Given the description of an element on the screen output the (x, y) to click on. 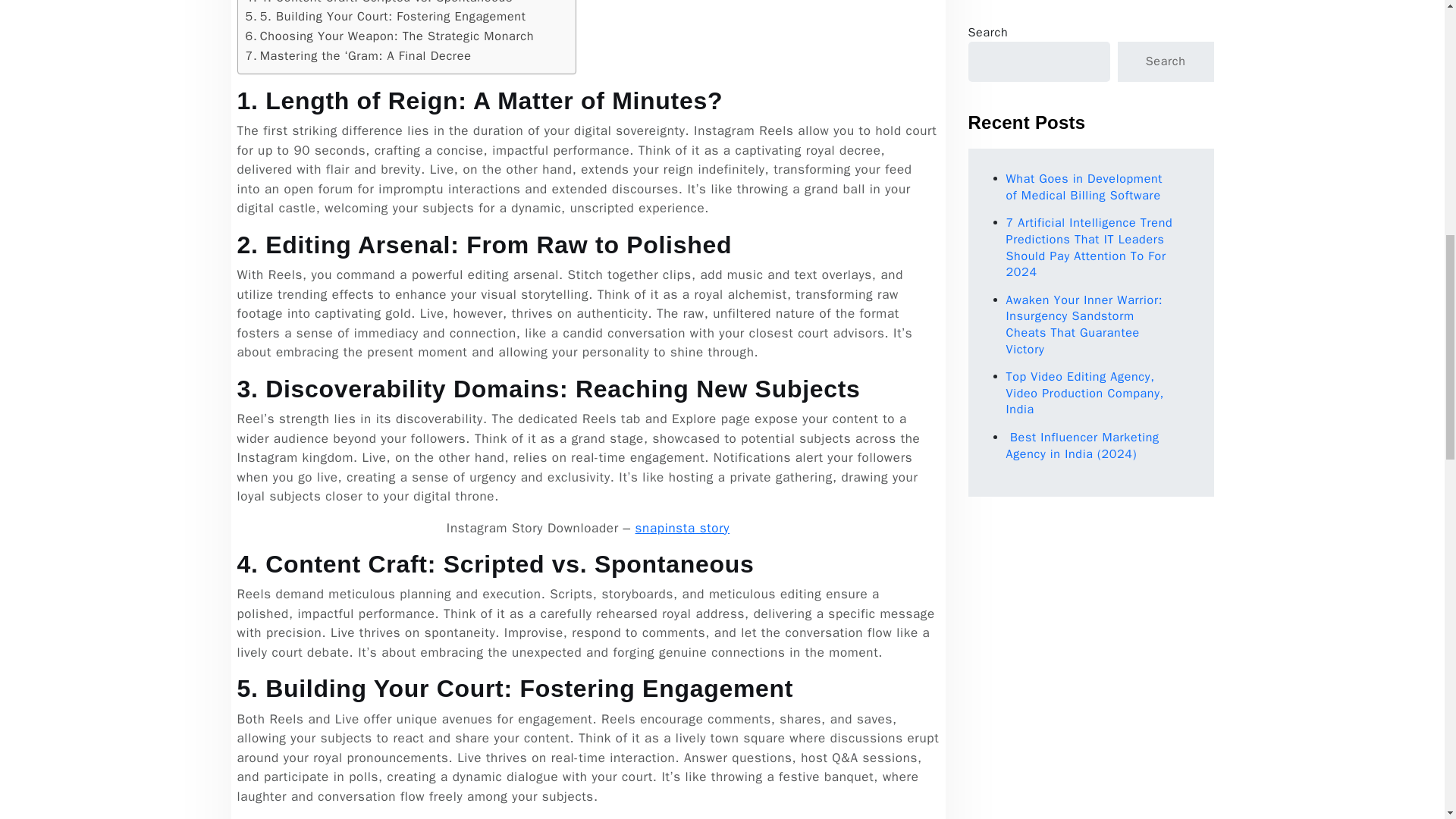
Choosing Your Weapon: The Strategic Monarch (390, 35)
5. Building Your Court: Fostering Engagement (385, 16)
4. Content Craft: Scripted vs. Spontaneous (379, 3)
snapinsta story (682, 528)
4. Content Craft: Scripted vs. Spontaneous (379, 3)
5. Building Your Court: Fostering Engagement (385, 16)
Choosing Your Weapon: The Strategic Monarch (390, 35)
